Given the description of an element on the screen output the (x, y) to click on. 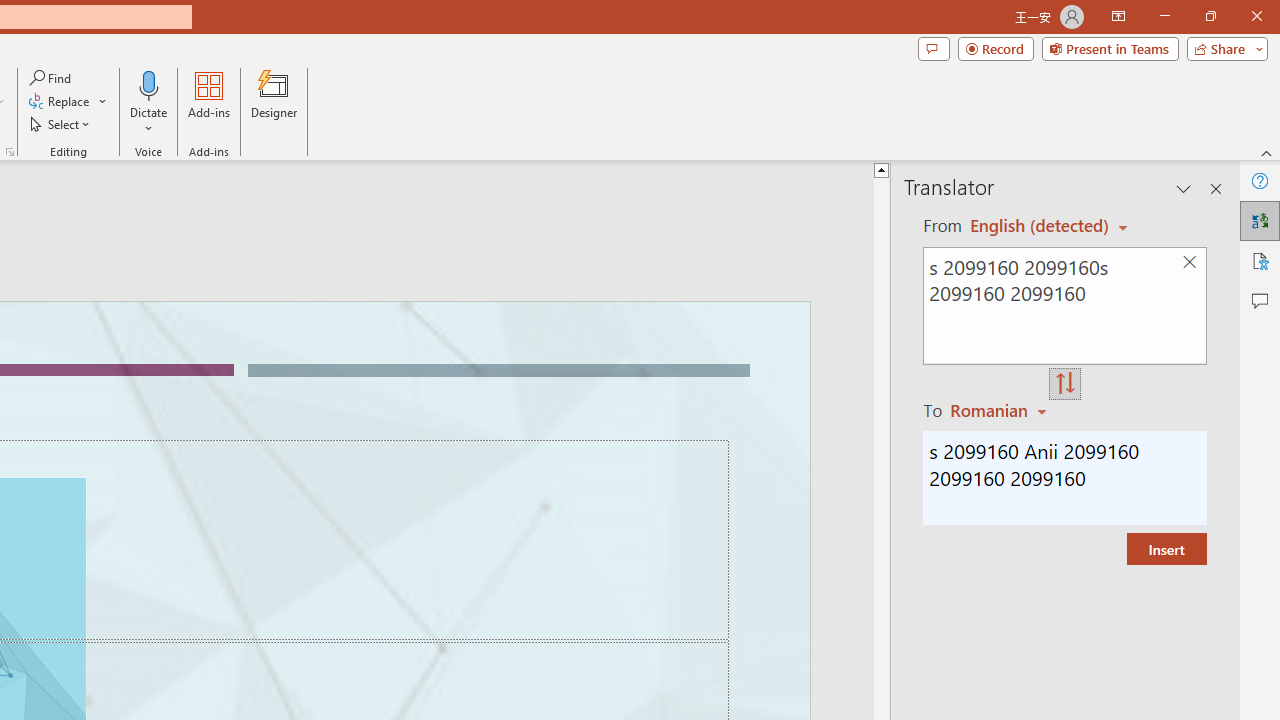
Czech (1001, 409)
